Given the description of an element on the screen output the (x, y) to click on. 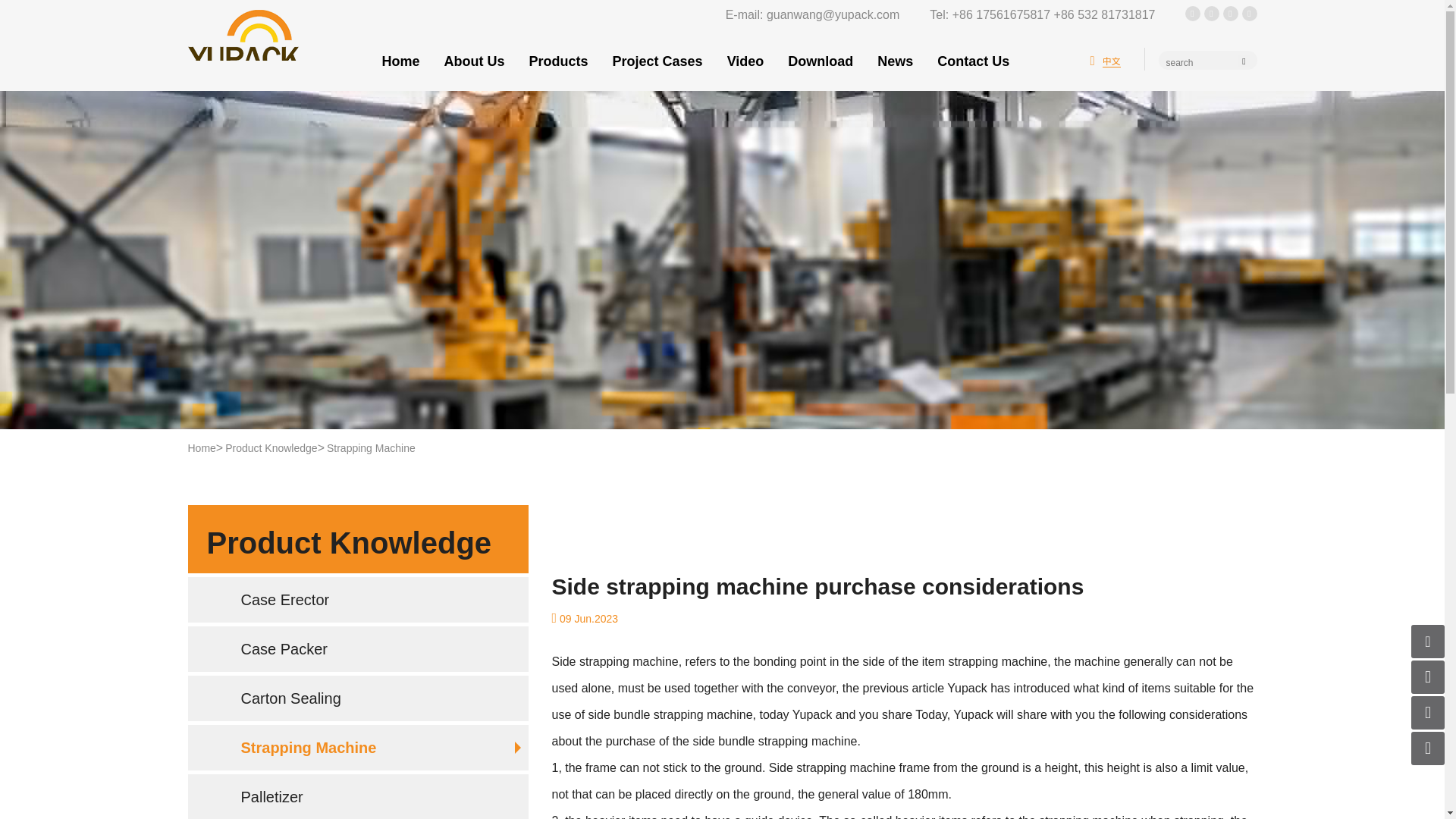
Home (400, 61)
About Us (474, 61)
Products (557, 61)
